Given the description of an element on the screen output the (x, y) to click on. 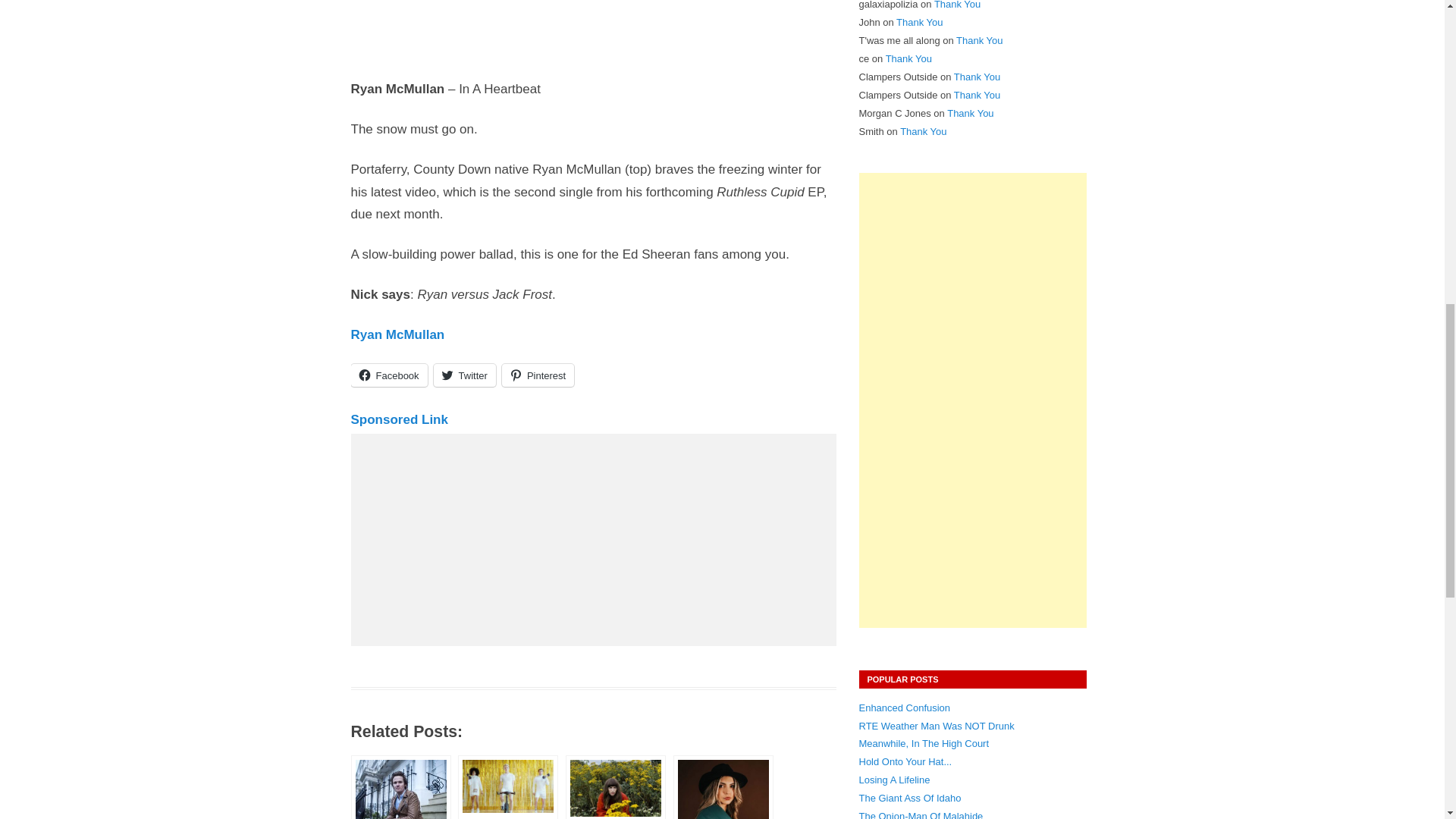
You May Like This (615, 787)
Click to share on Twitter (464, 374)
Ryan McMullan (397, 334)
Facebook (388, 374)
Click to share on Pinterest (537, 374)
Twitter (464, 374)
You May Like This (399, 787)
Click to share on Facebook (388, 374)
Pinterest (537, 374)
You May Like This (507, 787)
